Given the description of an element on the screen output the (x, y) to click on. 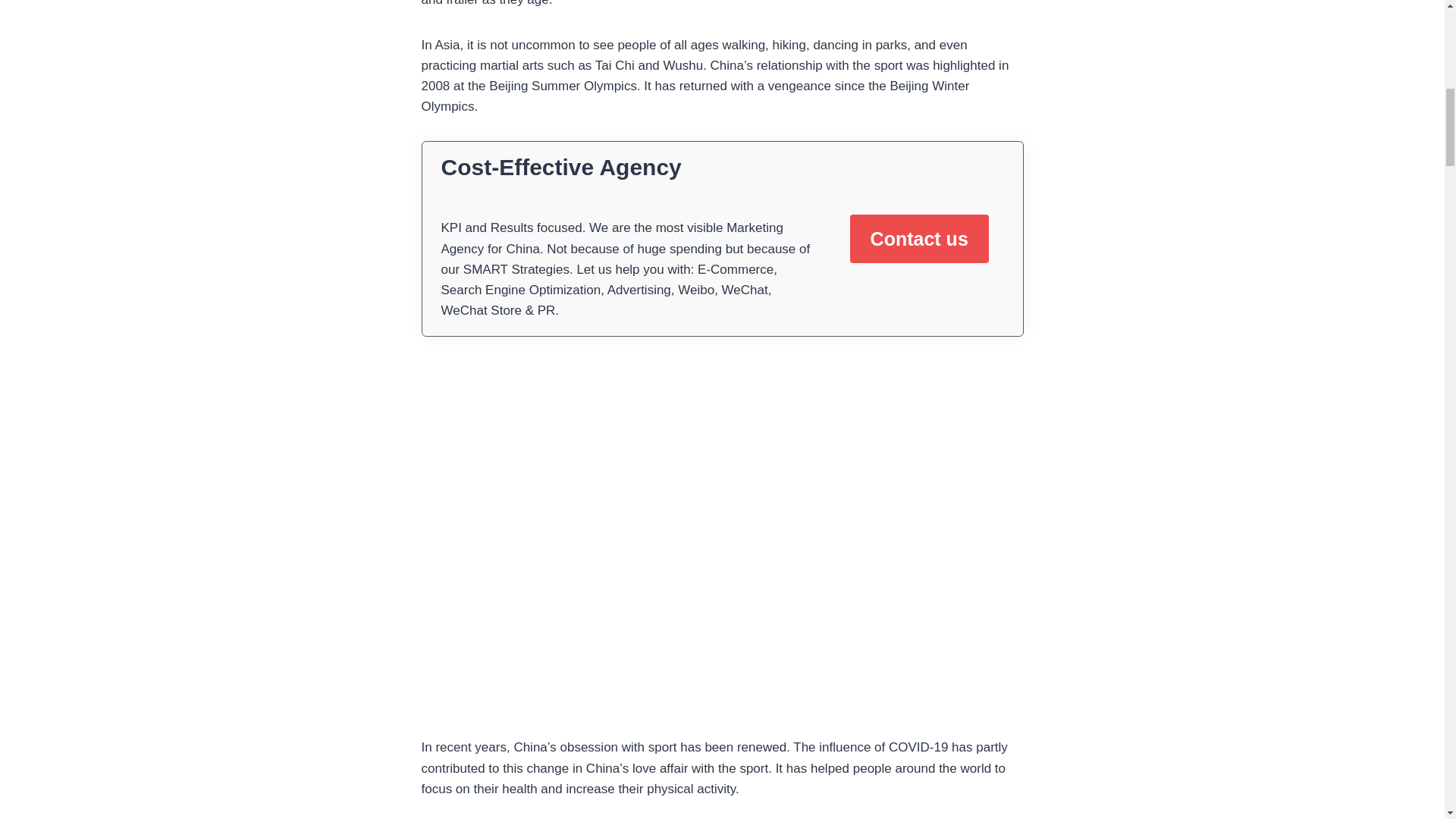
Contact us (919, 238)
